Given the description of an element on the screen output the (x, y) to click on. 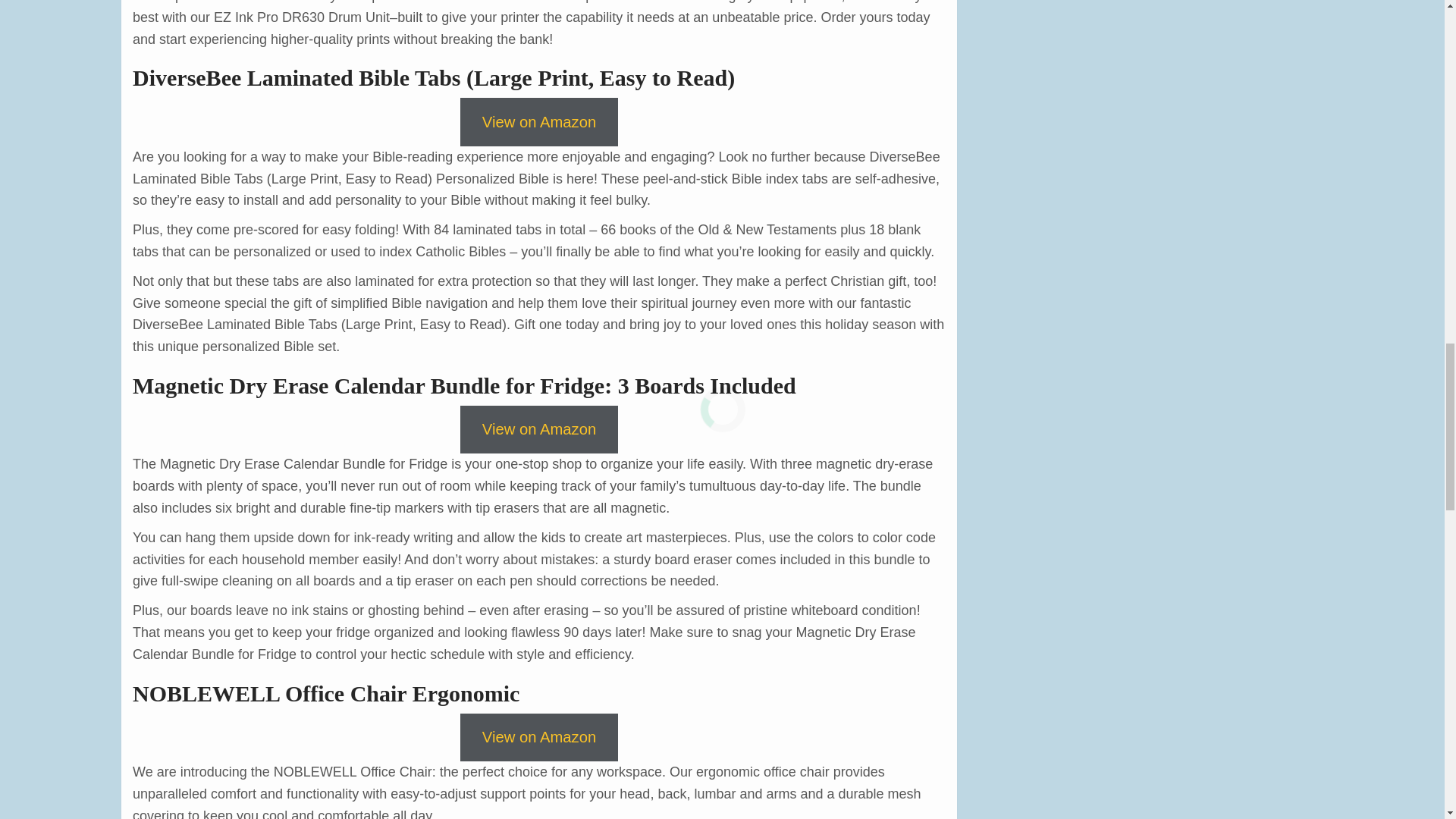
View on Amazon (538, 429)
View on Amazon (538, 121)
